Given the description of an element on the screen output the (x, y) to click on. 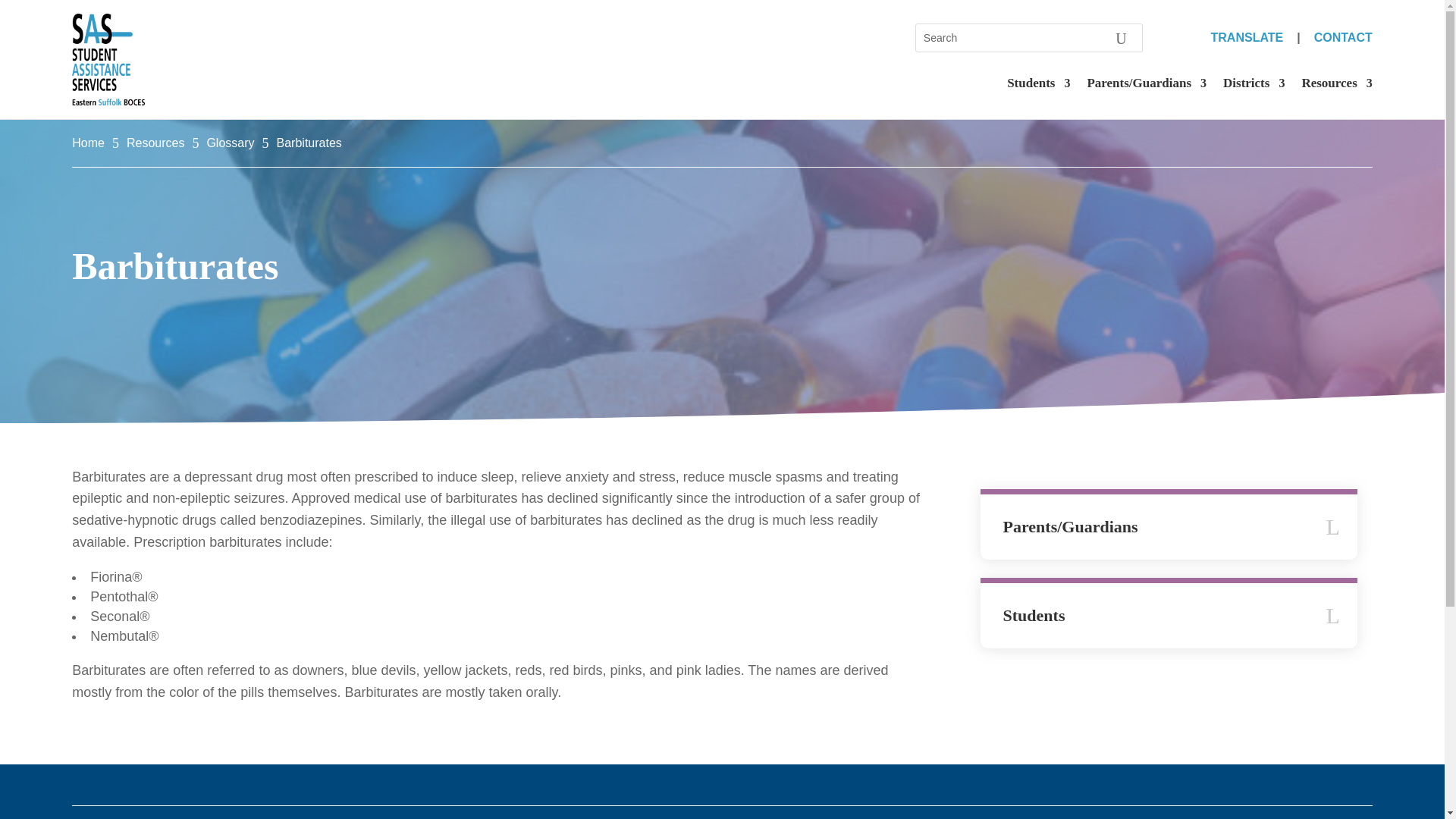
Search (1120, 37)
Search (1120, 37)
Districts (1253, 86)
CONTACT (1343, 37)
Resources (1336, 86)
Search (1120, 37)
TRANSLATE (1247, 37)
Students (1038, 86)
